Given the description of an element on the screen output the (x, y) to click on. 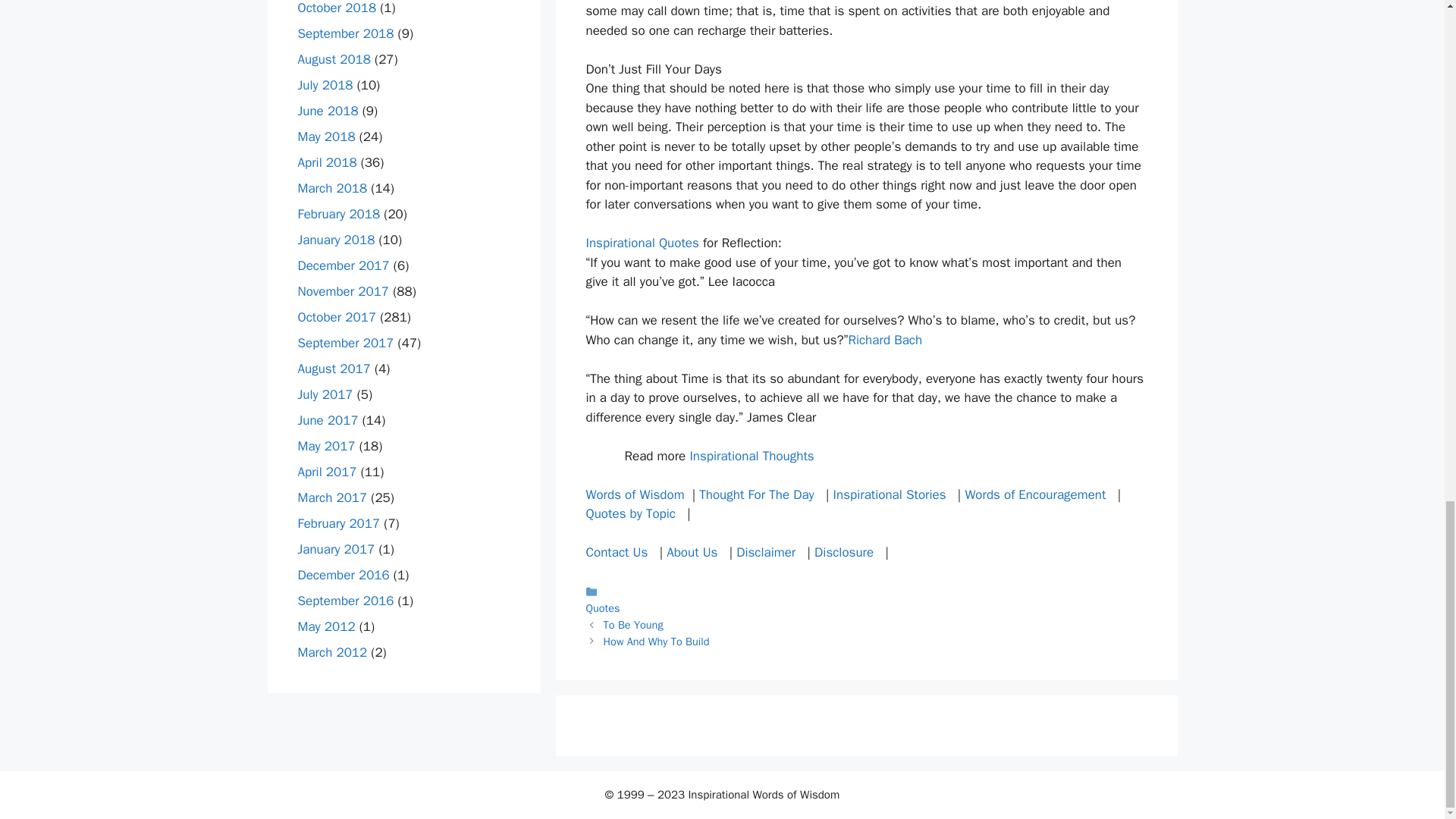
Inspirational Stories (889, 494)
Inspirational Quotes (641, 242)
Thought For The Day (755, 494)
Words of Encouragement (1034, 494)
Words of Wisdom (634, 494)
Scroll back to top (1406, 230)
Richard Bach (884, 340)
Inspirational Thoughts (750, 455)
Quotes by Topic (630, 513)
